Given the description of an element on the screen output the (x, y) to click on. 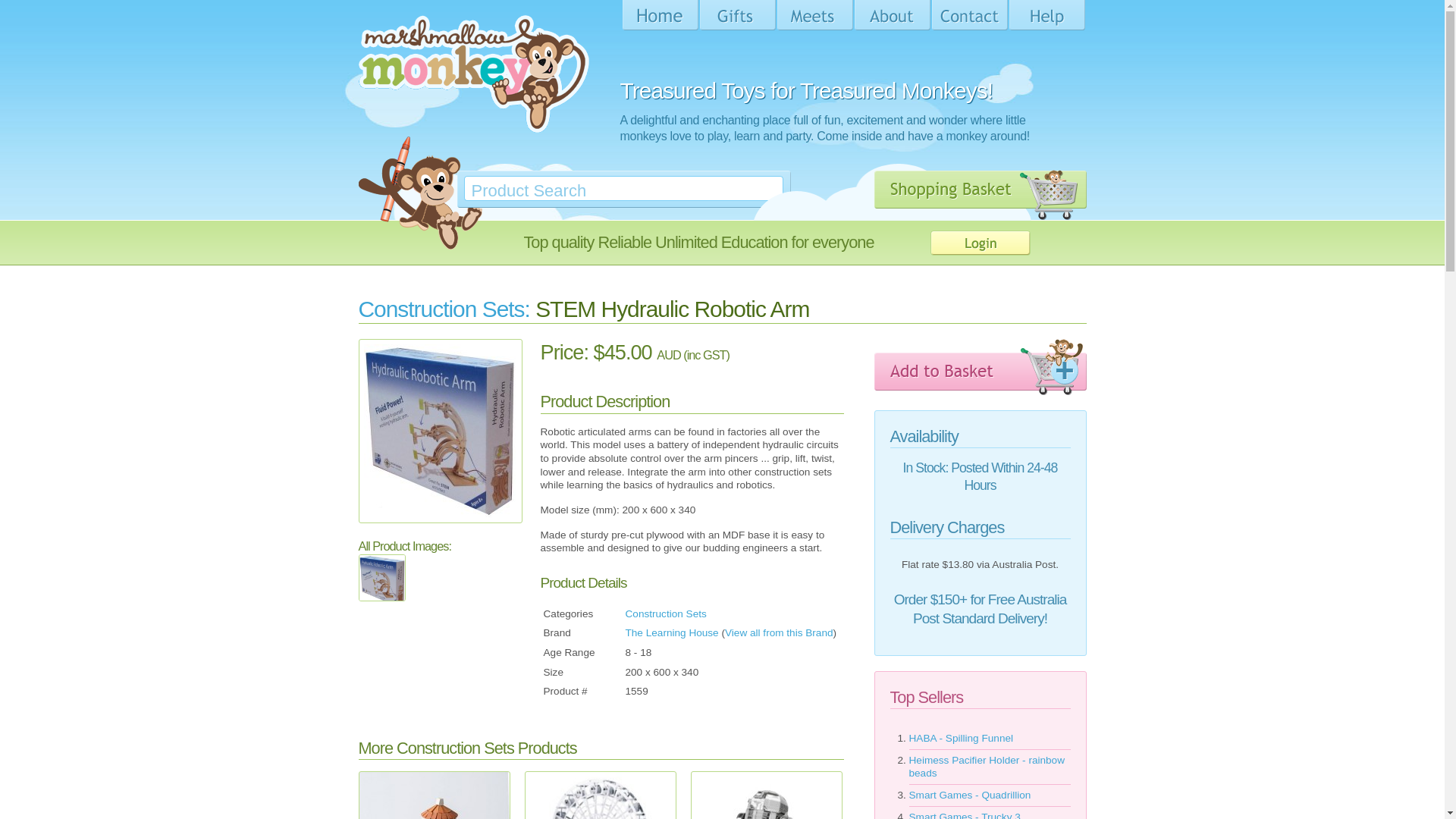
Shopping Basket Element type: text (979, 194)
Smart Games - Quadrillion Element type: text (969, 794)
The Learning House Element type: text (671, 632)
View all from this Brand Element type: text (778, 632)
Construction Sets: Element type: text (443, 308)
Heimess Pacifier Holder - rainbow beads Element type: text (986, 766)
Construction Sets Element type: text (665, 613)
HABA - Spilling Funnel Element type: text (960, 737)
